Given the description of an element on the screen output the (x, y) to click on. 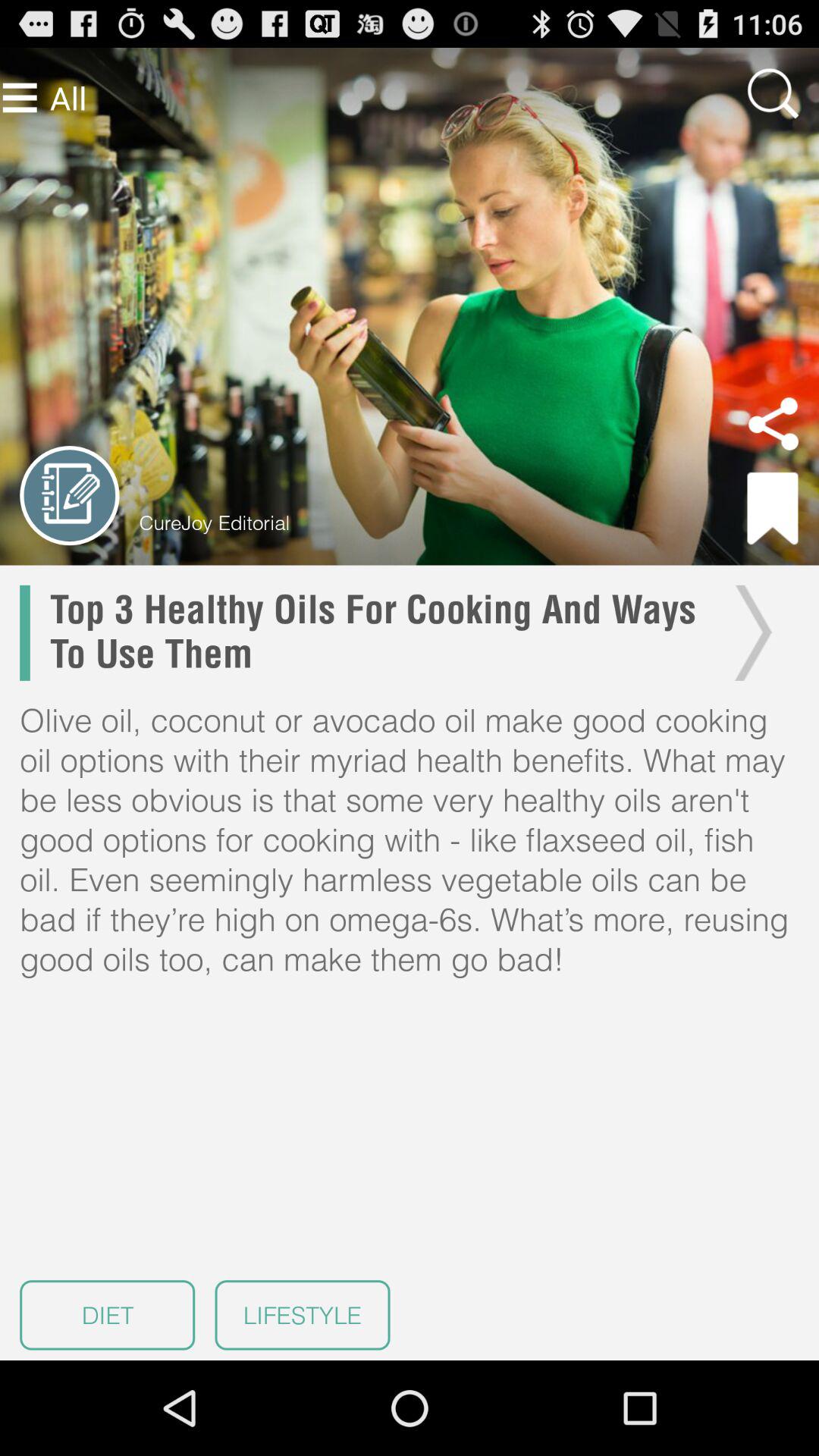
launch diet at the bottom left corner (107, 1315)
